Given the description of an element on the screen output the (x, y) to click on. 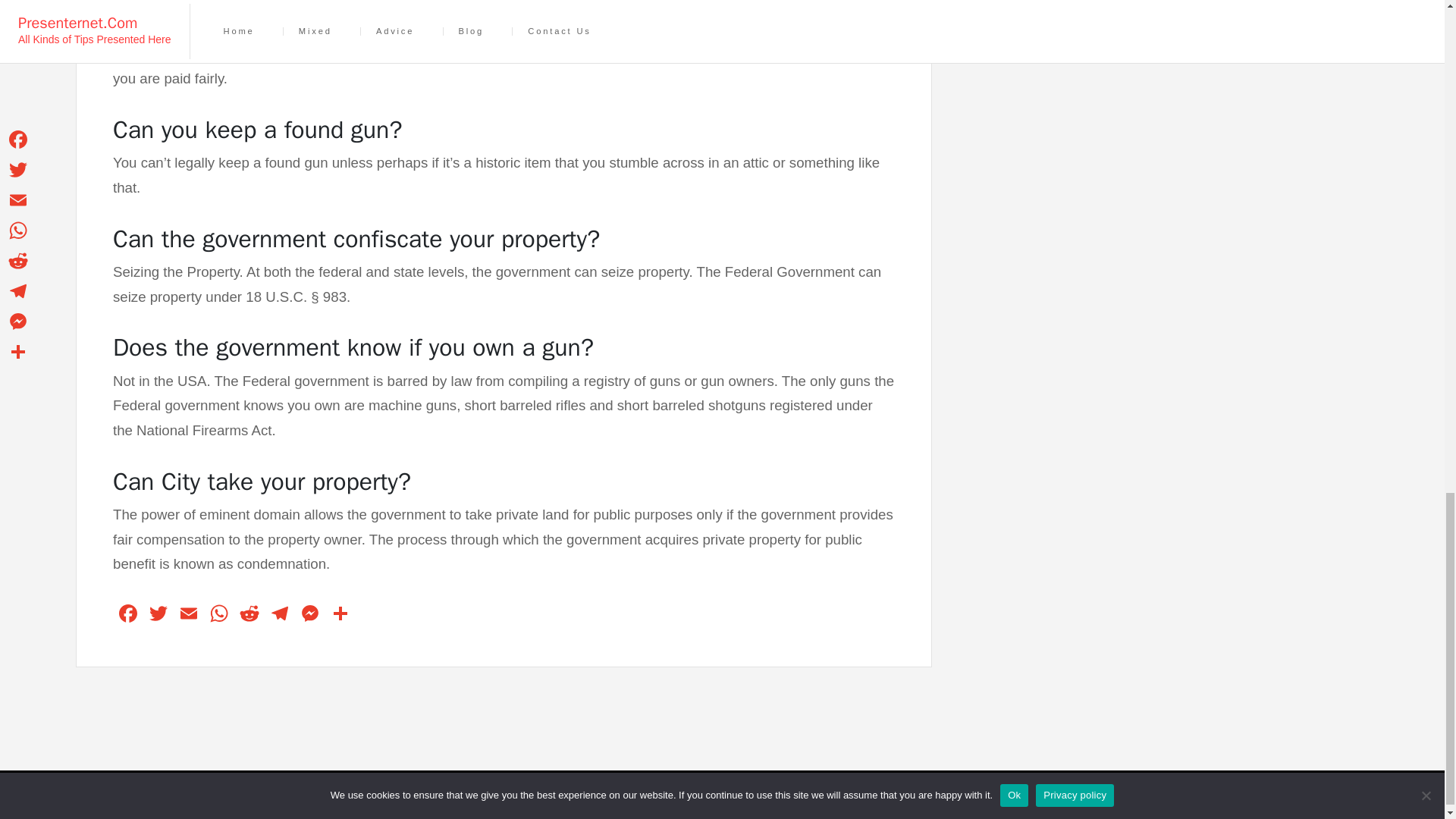
WhatsApp (218, 615)
Share (339, 615)
Reddit (249, 615)
Email (188, 615)
Twitter (157, 615)
Telegram (279, 615)
Messenger (309, 615)
Telegram (279, 615)
WhatsApp (218, 615)
Facebook (127, 615)
Reddit (249, 615)
Facebook (127, 615)
Twitter (157, 615)
Messenger (309, 615)
Email (188, 615)
